Given the description of an element on the screen output the (x, y) to click on. 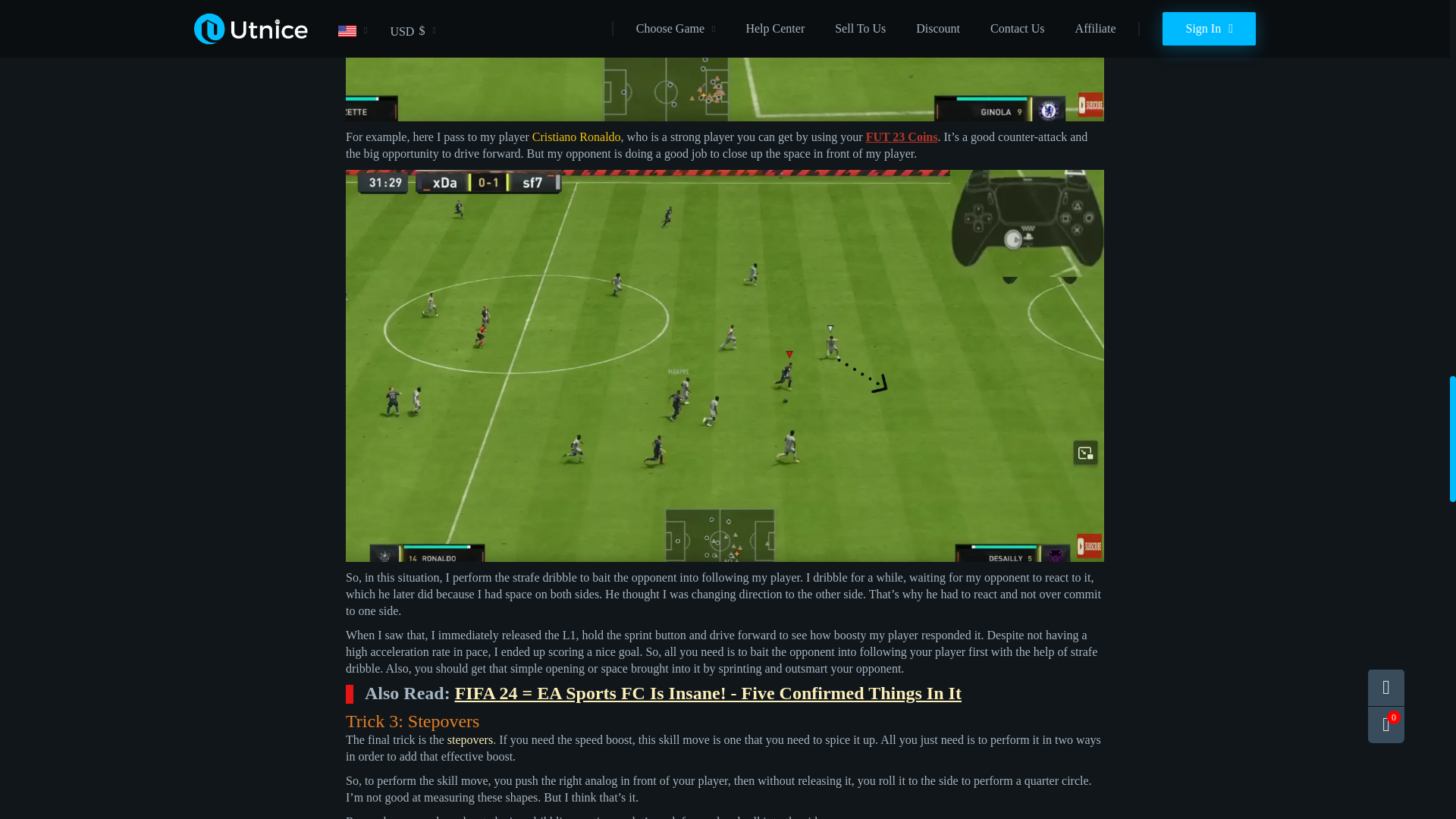
FUT 23 Coins (901, 136)
FIFA 23 L1 Speed Boost Example 2 (724, 60)
